Given the description of an element on the screen output the (x, y) to click on. 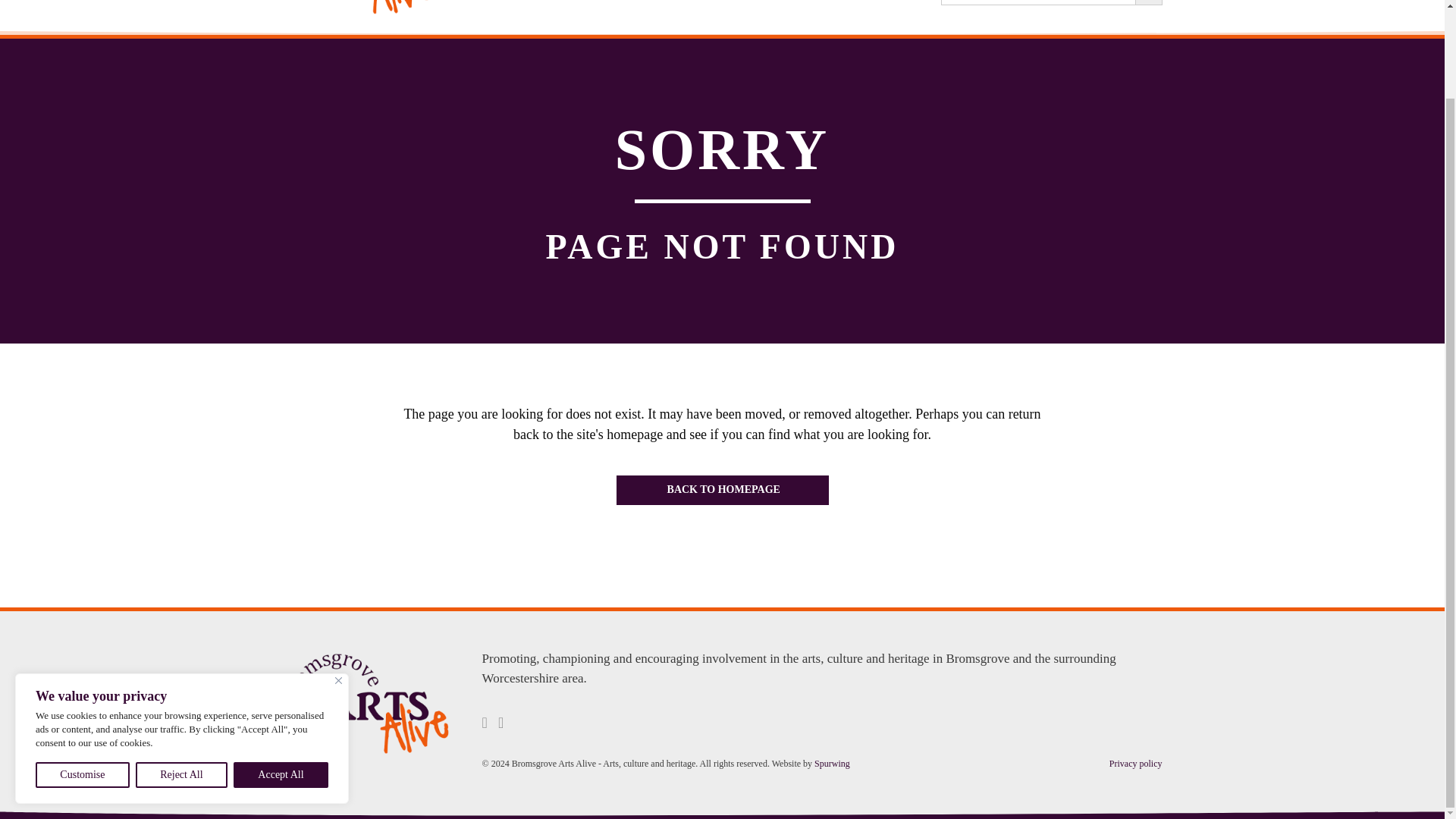
Customise (81, 673)
Accept All (280, 673)
bromsgrove-Arts-Alive-logo-cropped (366, 703)
Reject All (181, 673)
bromsgrove-Arts-Alive-logo-cropped (357, 8)
